Given the description of an element on the screen output the (x, y) to click on. 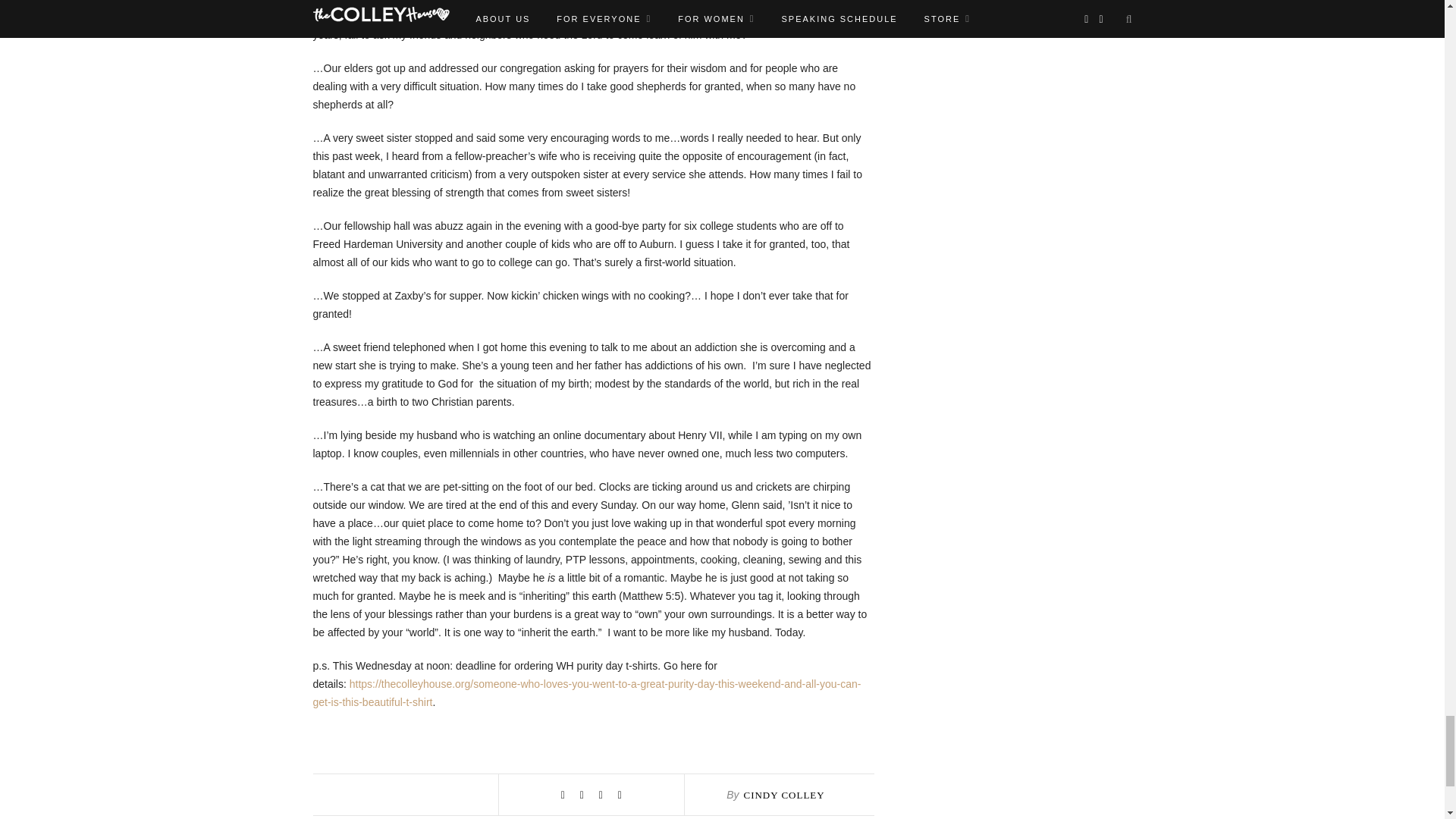
Posts by Cindy Colley (783, 794)
